Given the description of an element on the screen output the (x, y) to click on. 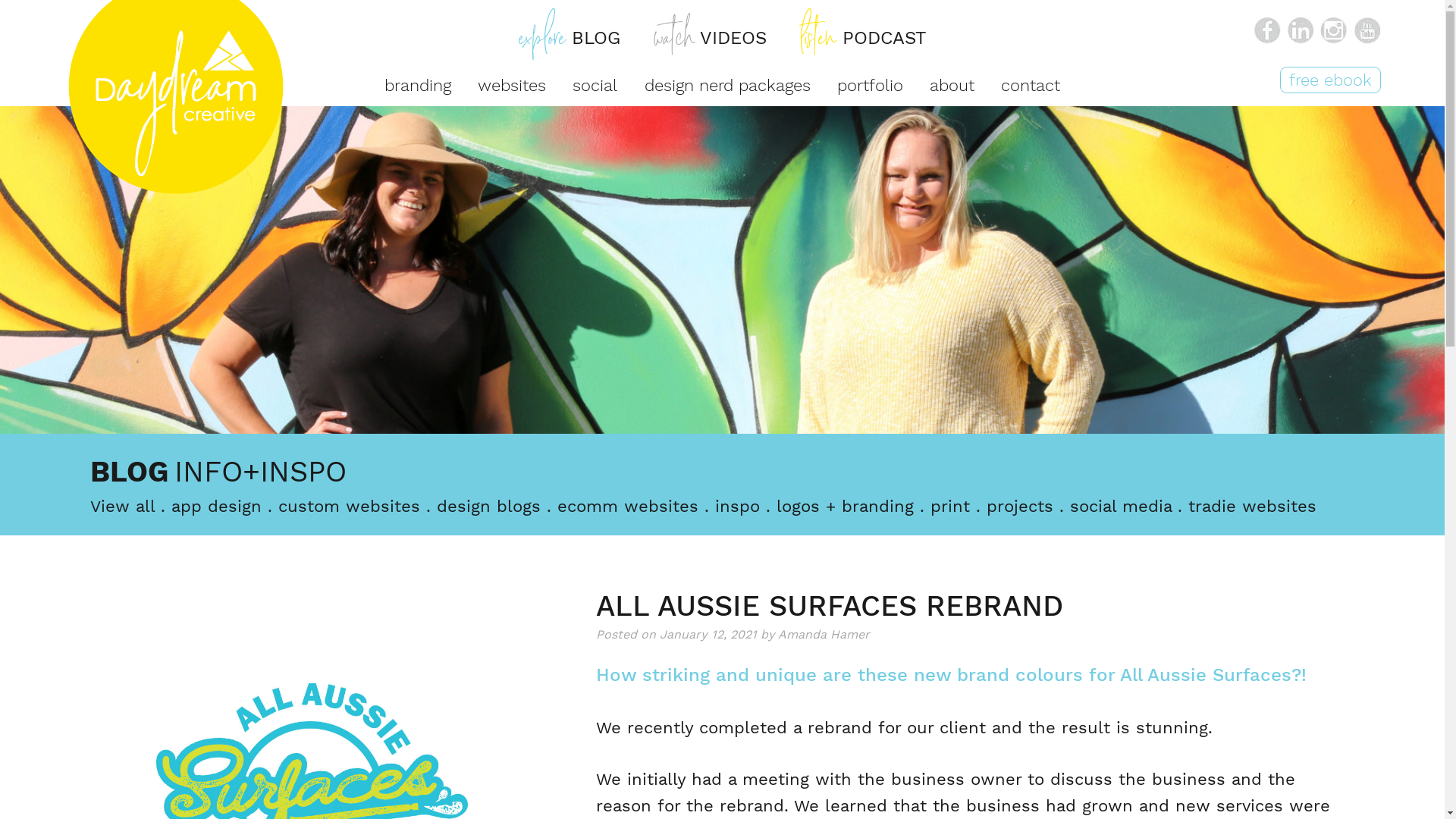
logos + branding Element type: text (844, 505)
January 12, 2021 Element type: text (707, 634)
ecomm websites Element type: text (627, 505)
You Tube Element type: text (1366, 29)
explore BLOG Element type: text (569, 37)
social Element type: text (594, 84)
branding Element type: text (417, 84)
portfolio Element type: text (870, 84)
websites Element type: text (511, 84)
social media Element type: text (1120, 505)
Instagram Element type: text (1333, 29)
Daydream Creative Element type: text (140, 226)
Linkedin Element type: text (1300, 29)
tradie websites Element type: text (1252, 505)
print Element type: text (949, 505)
design blogs Element type: text (488, 505)
app design Element type: text (216, 505)
inspo Element type: text (737, 505)
free ebook Element type: text (1330, 80)
design nerd packages Element type: text (727, 84)
View all Element type: text (122, 505)
contact Element type: text (1030, 84)
watch VIDEOS Element type: text (709, 37)
Facebook Element type: text (1266, 29)
projects Element type: text (1019, 505)
custom websites Element type: text (349, 505)
about Element type: text (951, 84)
Amanda Hamer Element type: text (823, 634)
listen PODCAST Element type: text (862, 37)
